Given the description of an element on the screen output the (x, y) to click on. 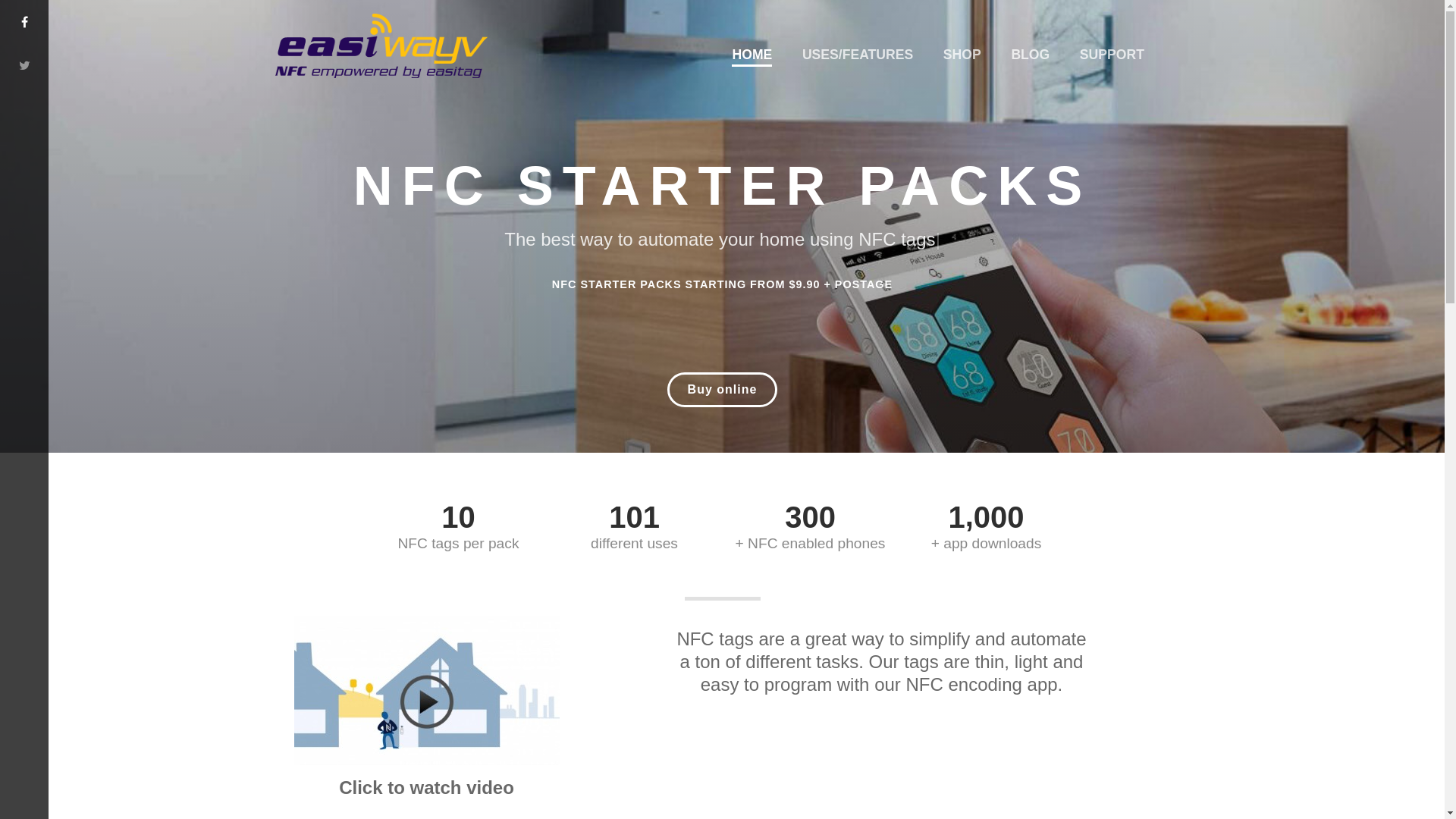
NFC STARTER PACKS STARTING FROM $9.90 + POSTAGE Element type: text (722, 284)
USES/FEATURES Element type: text (857, 54)
SUPPORT Element type: text (1111, 54)
Buy online Element type: text (722, 389)
SHOP Element type: text (961, 54)
HOME Element type: text (751, 54)
BLOG Element type: text (1030, 54)
